Given the description of an element on the screen output the (x, y) to click on. 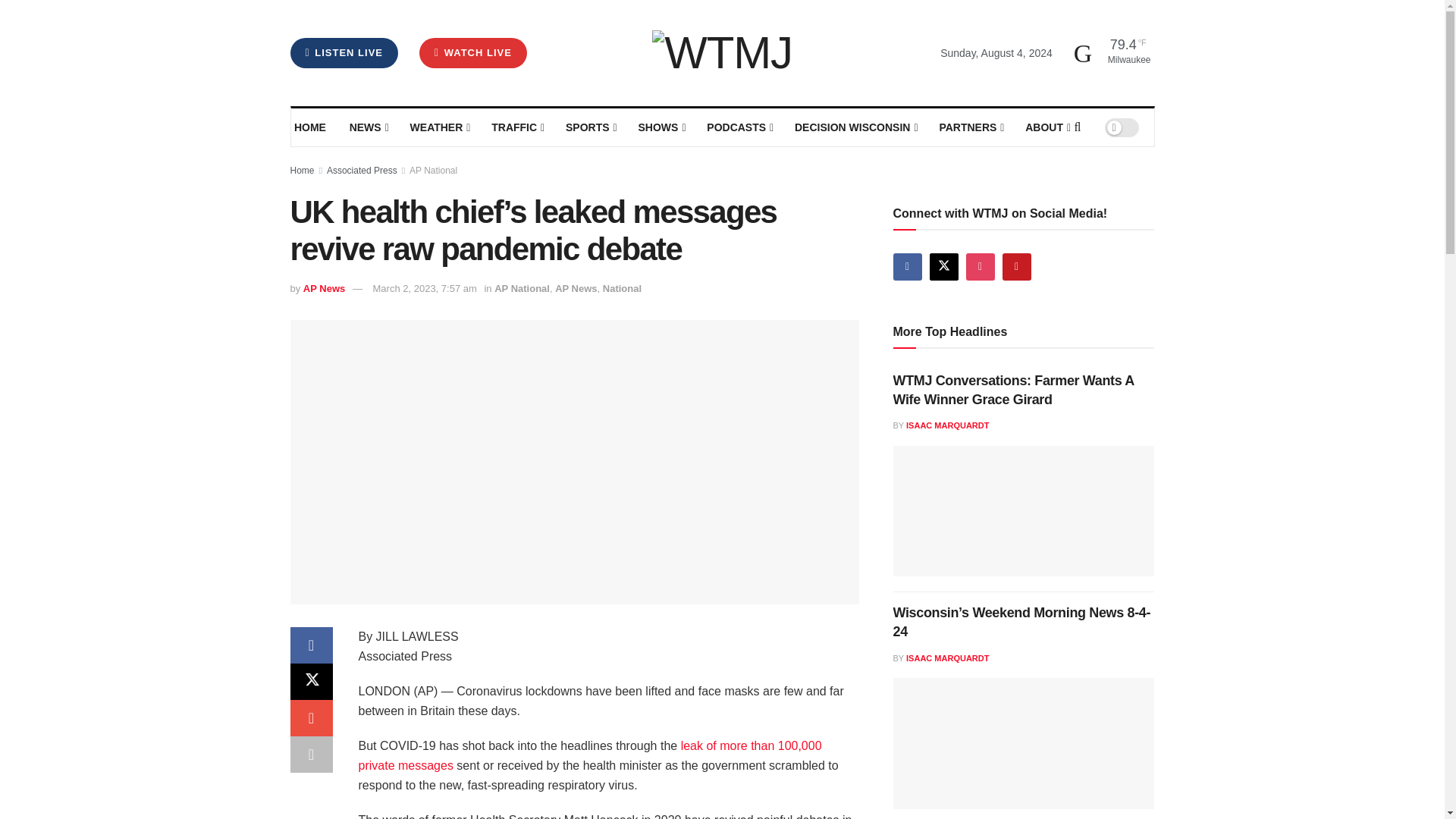
WEATHER (438, 127)
HOME (310, 127)
LISTEN LIVE (343, 52)
TRAFFIC (516, 127)
WATCH LIVE (473, 52)
SPORTS (589, 127)
NEWS (368, 127)
